Given the description of an element on the screen output the (x, y) to click on. 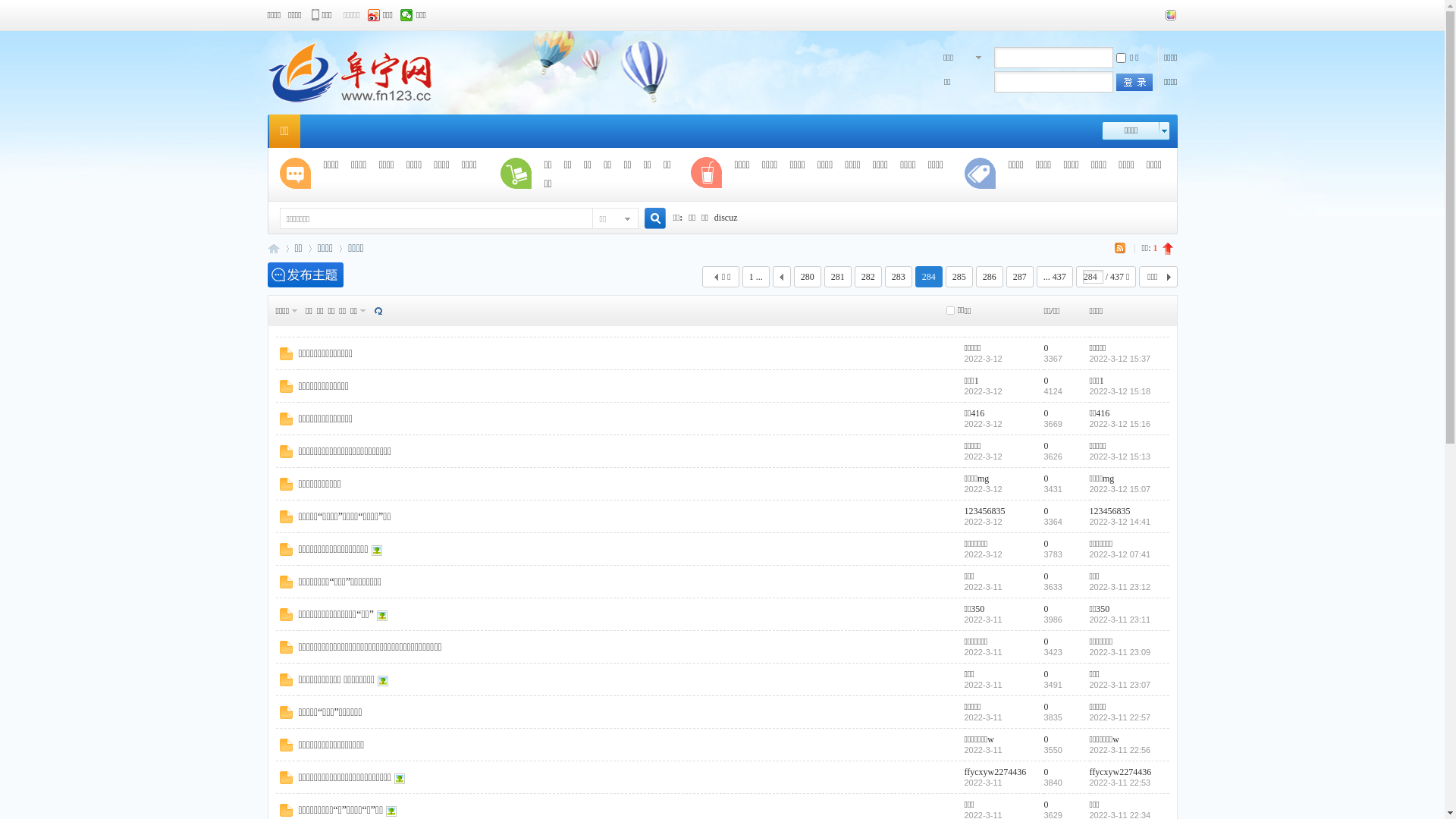
0 Element type: text (1045, 412)
0 Element type: text (1045, 673)
2022-3-11 22:56 Element type: text (1119, 749)
0 Element type: text (1045, 771)
0 Element type: text (1045, 706)
   Element type: text (781, 276)
0 Element type: text (1045, 804)
2022-3-12 15:37 Element type: text (1119, 358)
123456835 Element type: text (984, 510)
287 Element type: text (1019, 276)
283 Element type: text (898, 276)
0 Element type: text (1045, 380)
     Element type: text (1134, 81)
2022-3-12 15:18 Element type: text (1119, 390)
280 Element type: text (807, 276)
0 Element type: text (1045, 510)
2022-3-11 22:57 Element type: text (1119, 716)
2022-3-11 23:12 Element type: text (1119, 586)
0 Element type: text (1045, 608)
0 Element type: text (1045, 739)
ffycxyw2274436 Element type: text (995, 771)
... 437 Element type: text (1054, 276)
286 Element type: text (989, 276)
0 Element type: text (1045, 576)
2022-3-11 23:09 Element type: text (1119, 651)
1 ... Element type: text (755, 276)
2022-3-12 15:16 Element type: text (1119, 423)
2022-3-12 07:41 Element type: text (1119, 553)
2022-3-11 22:53 Element type: text (1119, 782)
2022-3-11 23:11 Element type: text (1119, 619)
2022-3-12 14:41 Element type: text (1119, 521)
2022-3-12 15:07 Element type: text (1119, 488)
0 Element type: text (1045, 445)
2022-3-12 15:13 Element type: text (1119, 456)
0 Element type: text (1045, 641)
ffycxyw2274436 Element type: text (1119, 771)
discuz Element type: text (725, 217)
282 Element type: text (867, 276)
RSS Element type: hover (1121, 247)
123456835 Element type: text (1108, 510)
0 Element type: text (1045, 478)
0 Element type: text (1045, 543)
285 Element type: text (958, 276)
281 Element type: text (837, 276)
2022-3-11 23:07 Element type: text (1119, 684)
0 Element type: text (1045, 347)
